Given the description of an element on the screen output the (x, y) to click on. 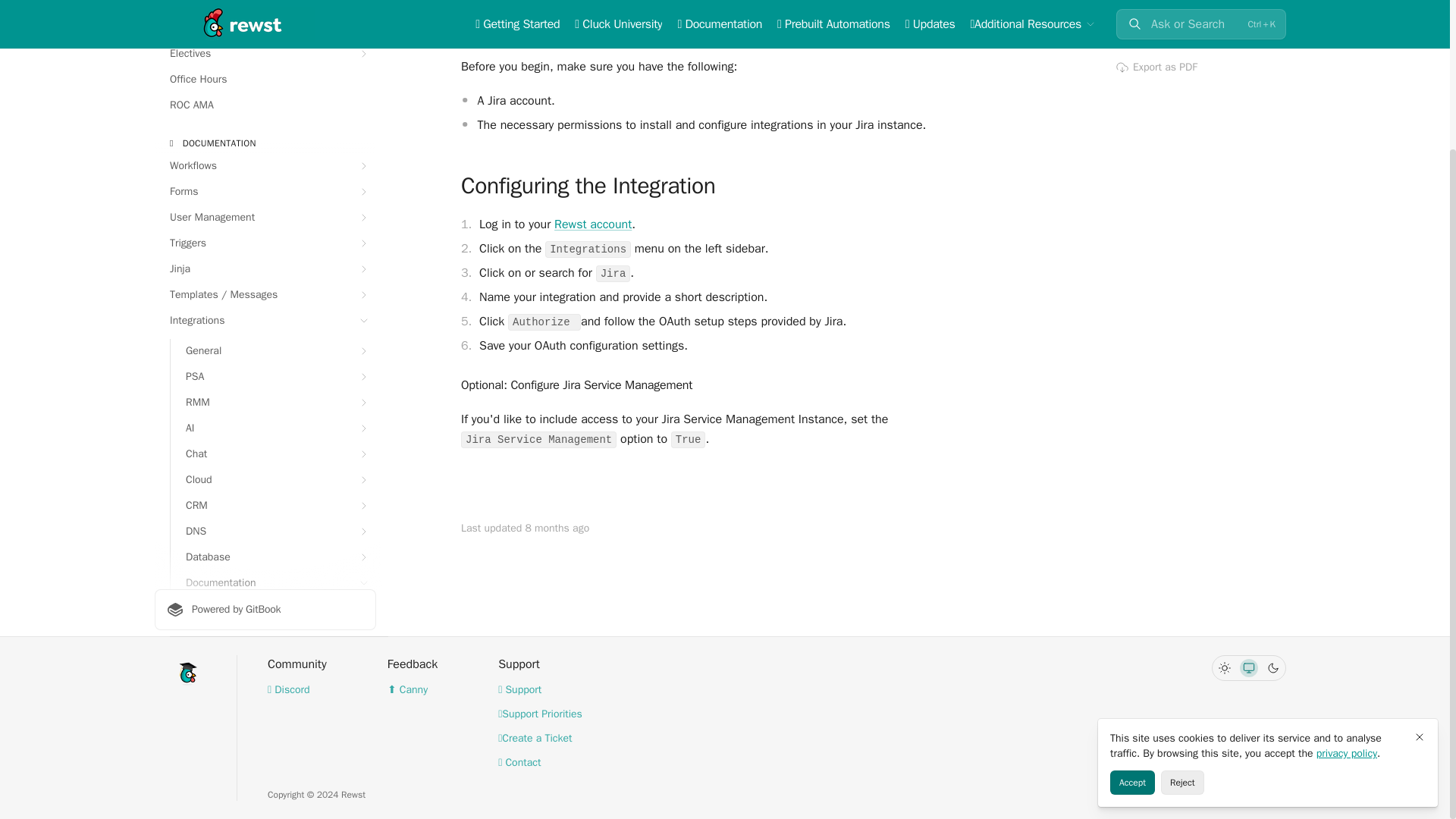
Close (1419, 554)
Yes, it was! (1176, 4)
No (1128, 4)
Not sure (1152, 4)
